Given the description of an element on the screen output the (x, y) to click on. 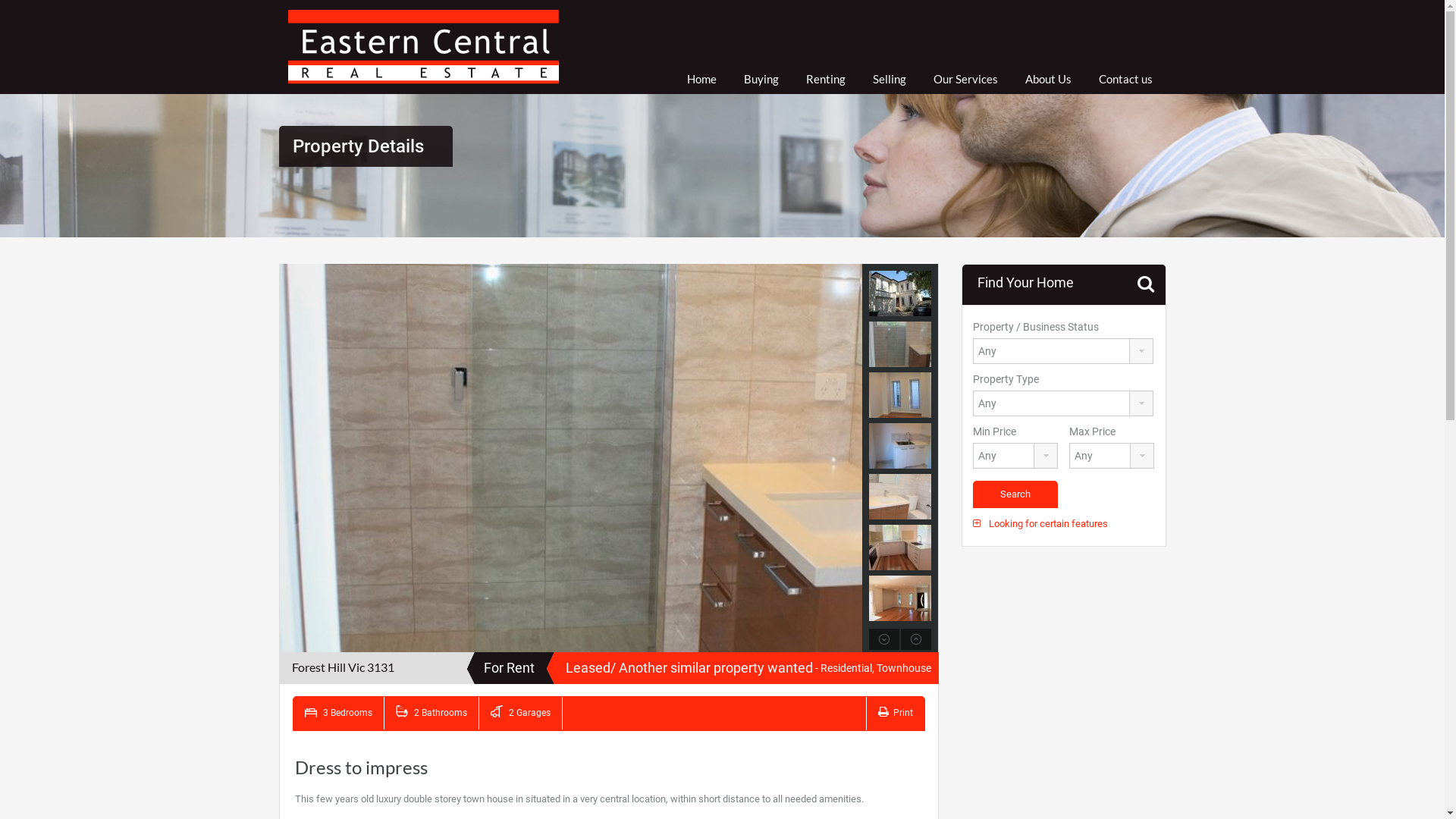
Selling Element type: text (889, 78)
Print Element type: text (895, 712)
About Us Element type: text (1047, 78)
Search Element type: text (1014, 494)
Renting Element type: text (825, 78)
Looking for certain features Element type: text (1039, 523)
Our Services Element type: text (965, 78)
Contact us Element type: text (1125, 78)
Home Element type: text (700, 78)
Buying Element type: text (761, 78)
Eastern Central Element type: hover (423, 46)
